Given the description of an element on the screen output the (x, y) to click on. 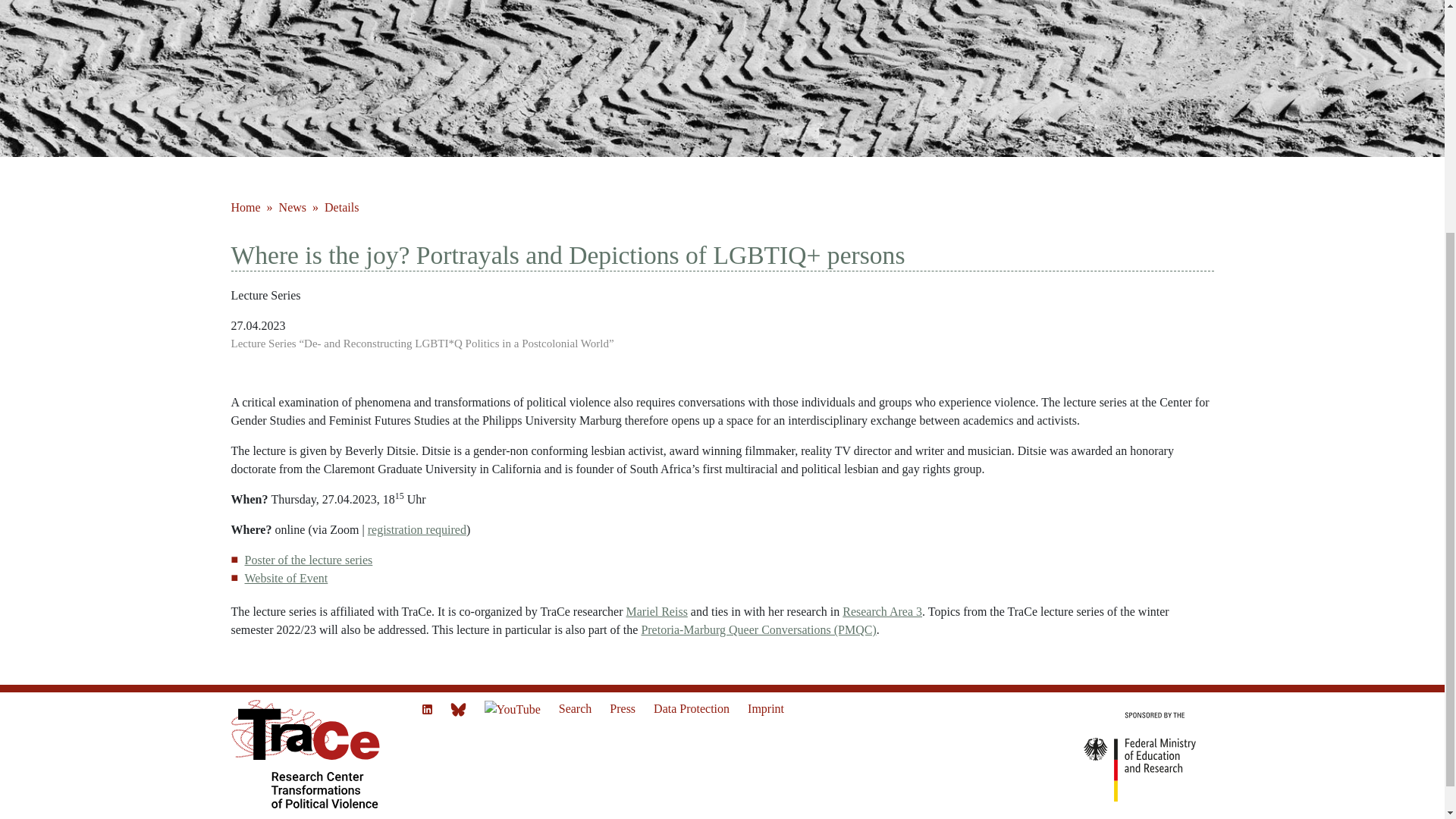
Home (246, 206)
Poster of the lecture series (308, 559)
News (292, 206)
Mariel Reiss (656, 611)
Website of Event (285, 577)
registration required (416, 529)
